Given the description of an element on the screen output the (x, y) to click on. 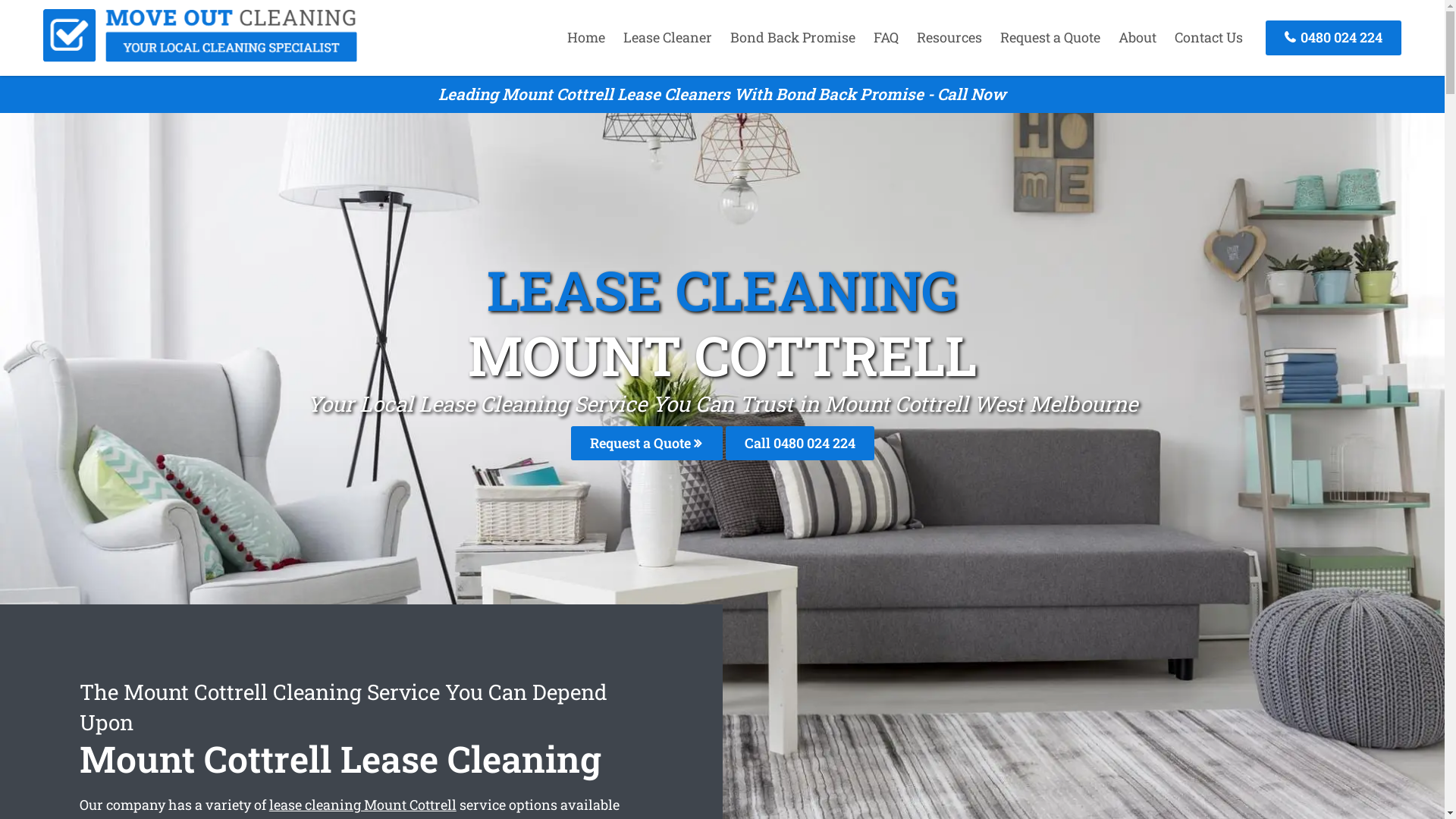
Request a Quote Element type: text (645, 443)
End of Lease Cleaning Element type: hover (200, 56)
Request a Quote Element type: text (1049, 37)
Bond Back Promise Element type: text (792, 37)
lease cleaning Mount Cottrell Element type: text (362, 804)
About Element type: text (1137, 37)
Contact Us Element type: text (1208, 37)
Home Element type: text (585, 37)
Call 0480 024 224 Element type: text (798, 443)
0480 024 224 Element type: text (1333, 37)
Resources Element type: text (949, 37)
FAQ Element type: text (886, 37)
Lease Cleaner Element type: text (667, 37)
